Given the description of an element on the screen output the (x, y) to click on. 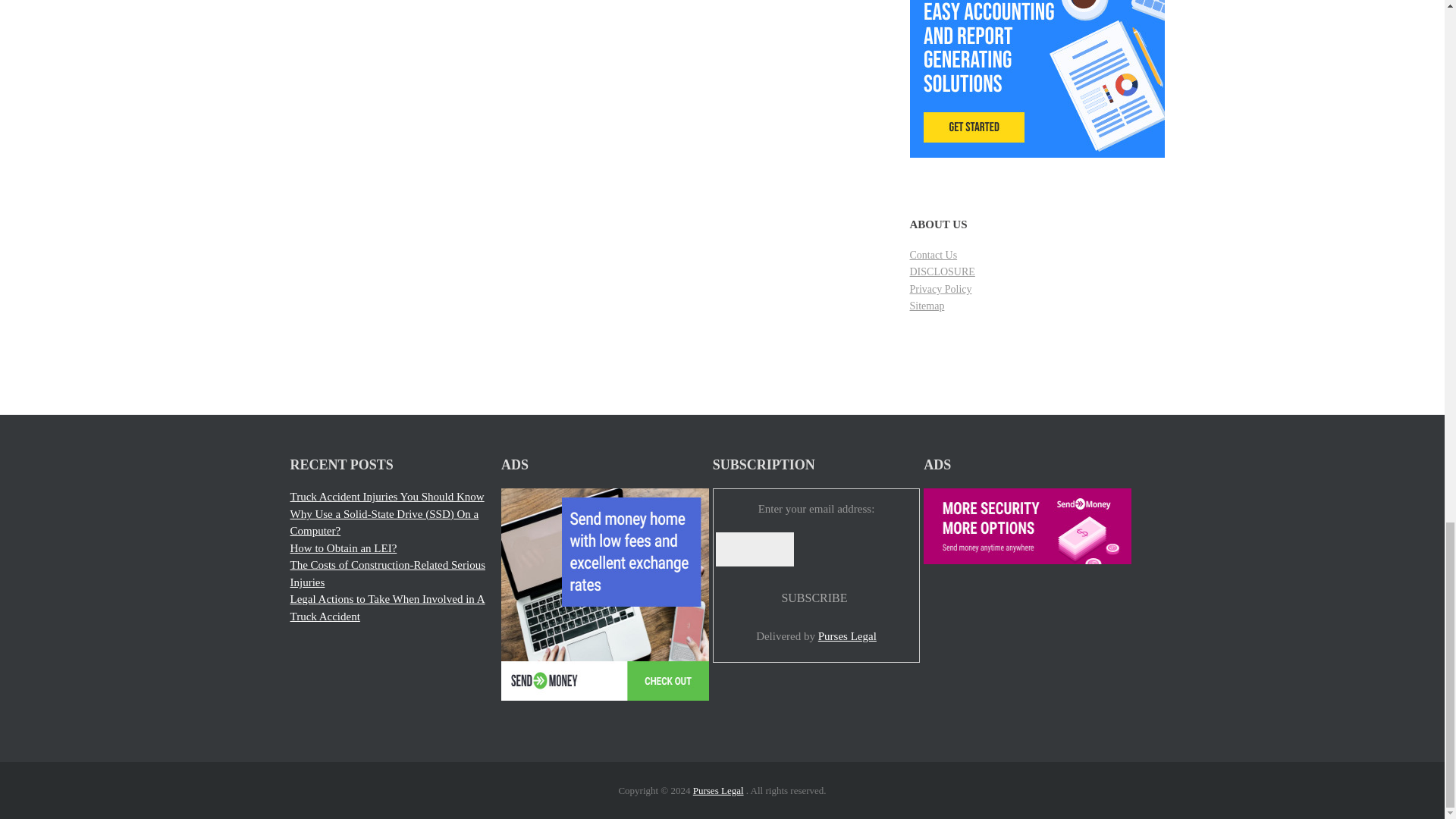
Subscribe (813, 597)
